Given the description of an element on the screen output the (x, y) to click on. 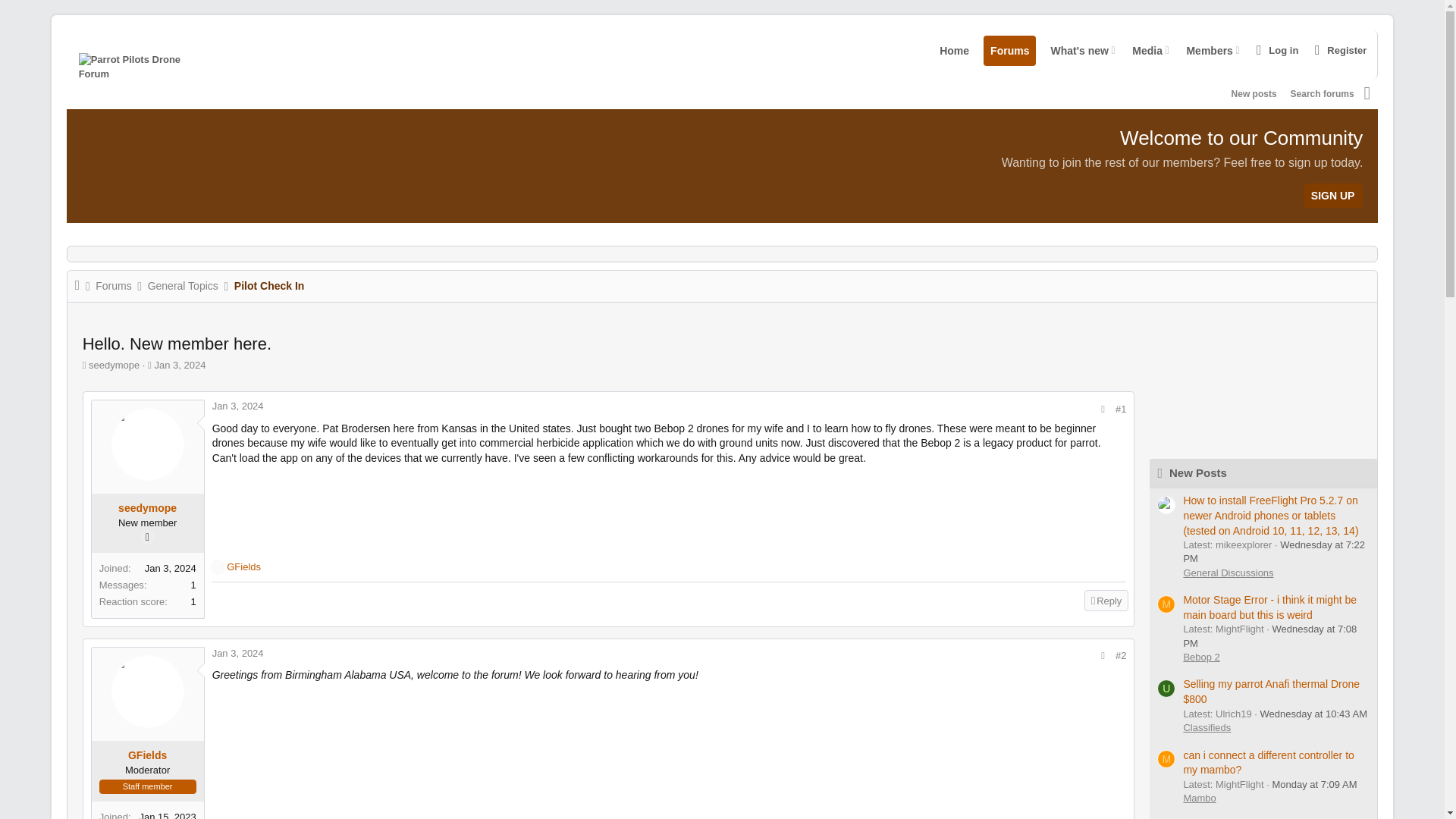
Reply, quoting this message (1106, 599)
Jan 3, 2024 at 8:22 AM (237, 405)
Members (1292, 93)
Forums (1206, 50)
What's new (1009, 50)
Jan 3, 2024 at 8:22 AM (1075, 50)
Like (179, 365)
New posts (218, 567)
Media (1087, 54)
Original poster (1253, 94)
Register (1144, 50)
Home (146, 536)
